Given the description of an element on the screen output the (x, y) to click on. 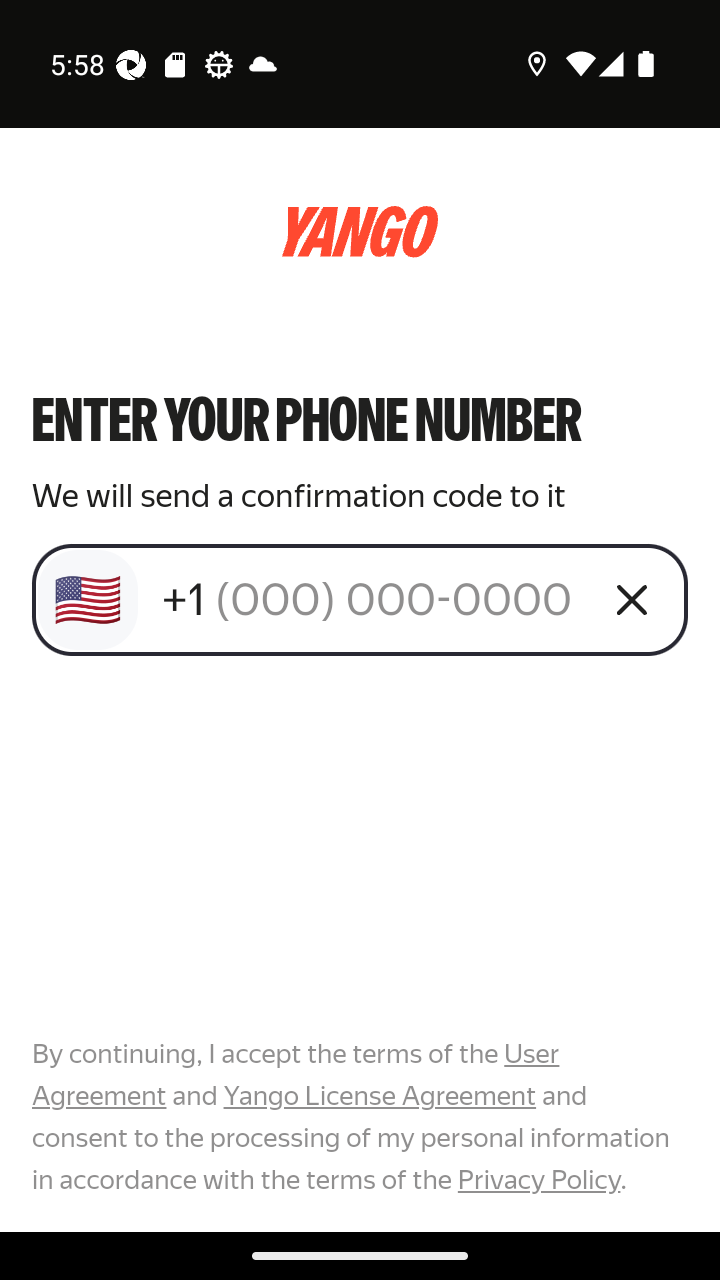
logo (359, 231)
🇺🇸 (88, 600)
+1 (372, 599)
User Agreement (295, 1075)
Yango License Agreement (379, 1096)
Privacy Policy (538, 1179)
